Given the description of an element on the screen output the (x, y) to click on. 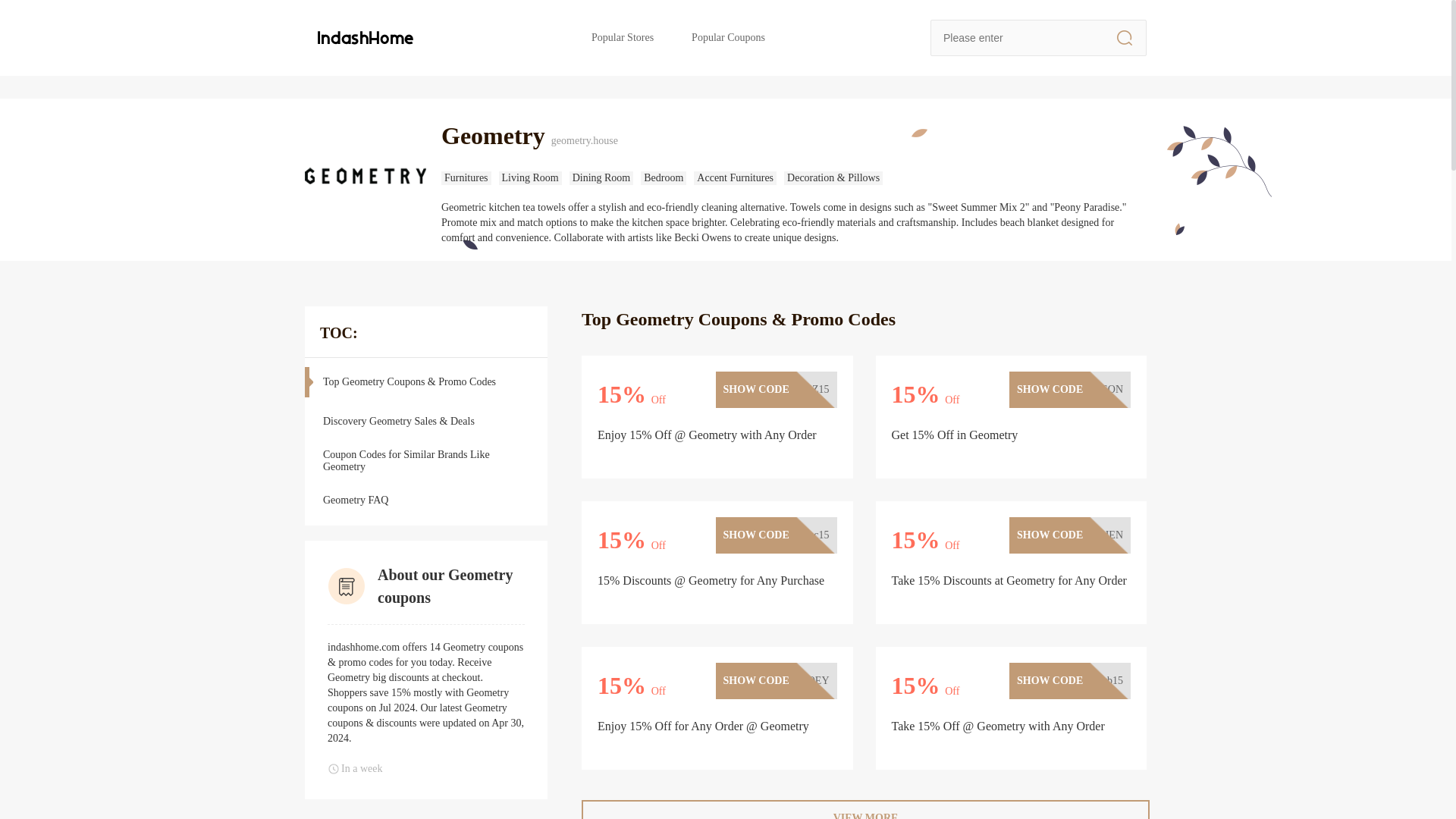
geometry.house (611, 140)
Accent Furnitures (735, 178)
Coupon Codes for Similar Brands Like Geometry (408, 460)
Furnitures (466, 178)
Living Room (530, 178)
Dining Room (601, 178)
Bedroom (662, 178)
